Given the description of an element on the screen output the (x, y) to click on. 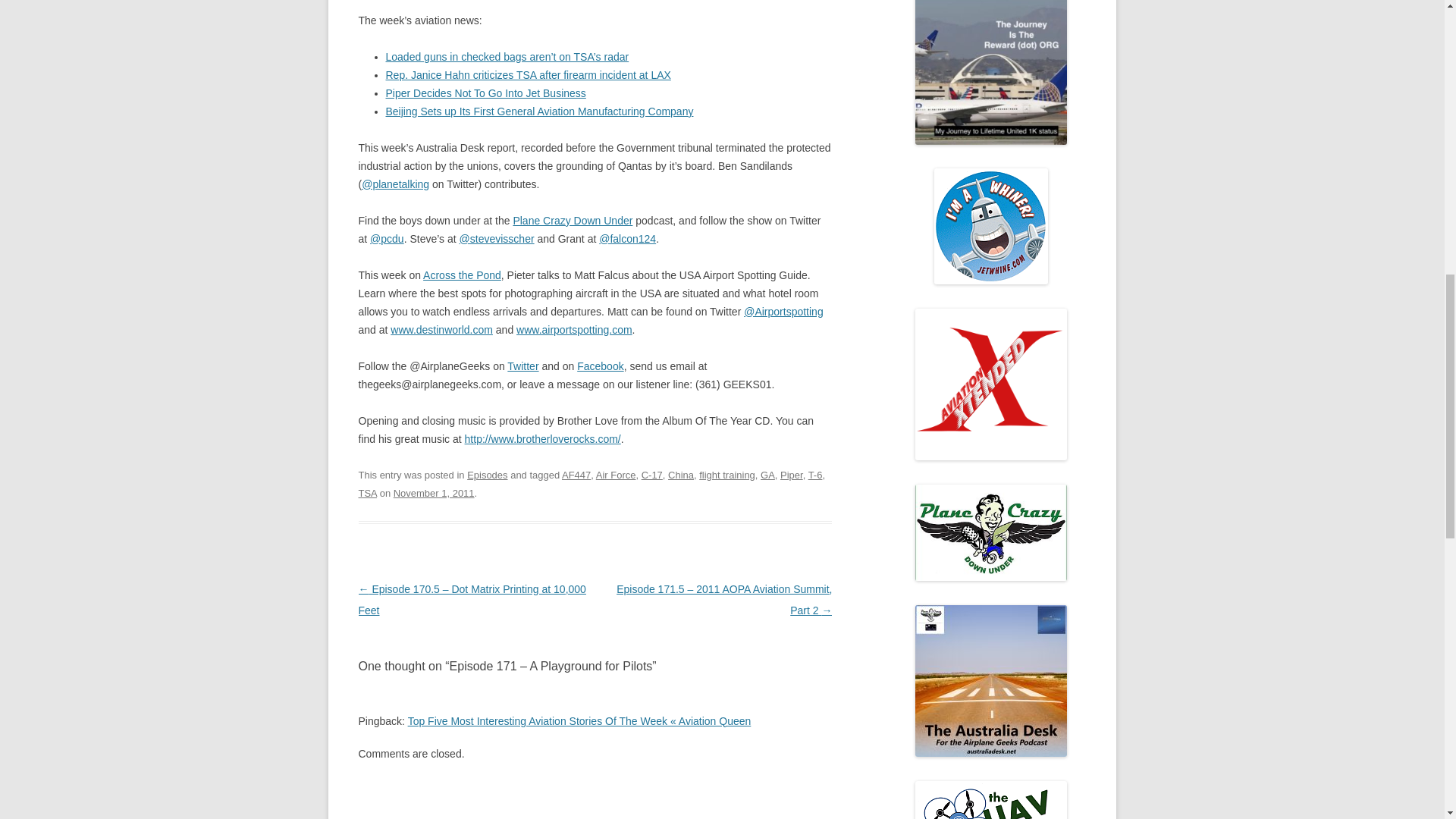
Episodes (486, 474)
Piper Decides Not To Go Into Jet Business (485, 92)
Facebook (599, 366)
Twitter (522, 366)
Across the Pond (461, 275)
Air Force (615, 474)
Plane Crazy Down Under (571, 220)
AF447 (576, 474)
C-17 (652, 474)
7:09 pm (433, 492)
